Given the description of an element on the screen output the (x, y) to click on. 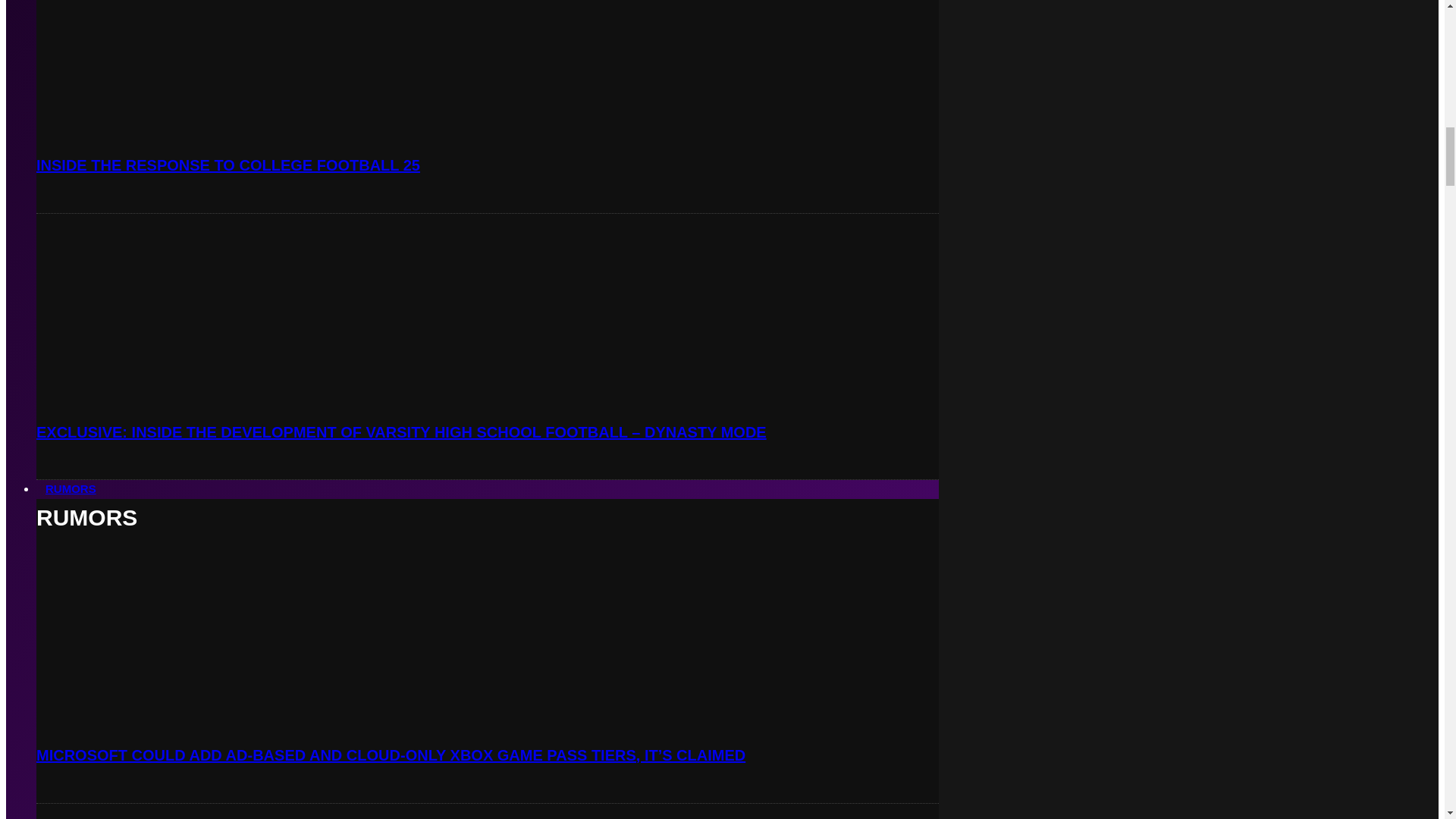
RUMORS (70, 488)
INSIDE THE RESPONSE TO COLLEGE FOOTBALL 25 (228, 165)
